Given the description of an element on the screen output the (x, y) to click on. 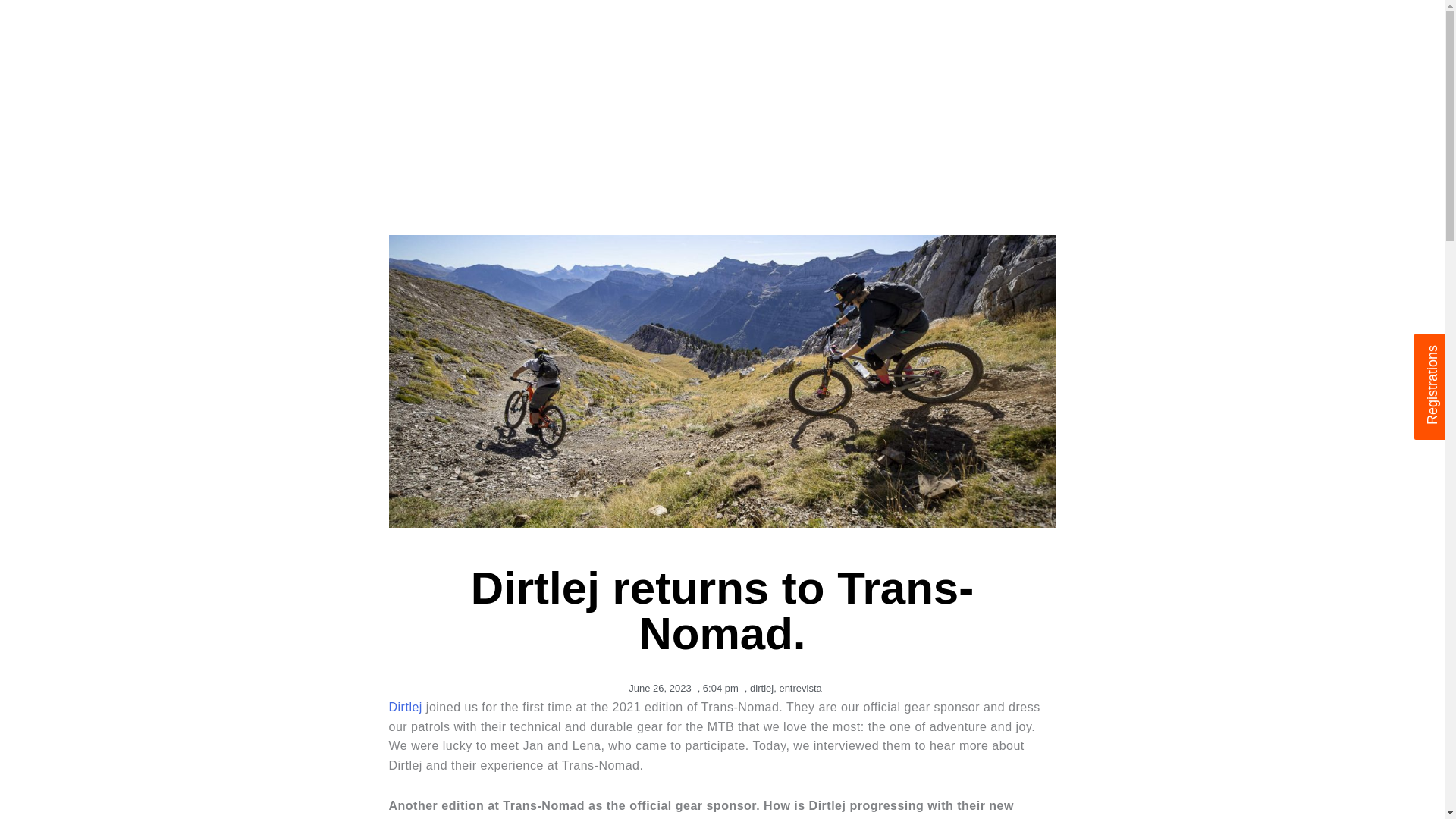
Dirtlej (405, 707)
dirtlej (761, 687)
entrevista (799, 687)
June 26, 2023 (656, 688)
